Given the description of an element on the screen output the (x, y) to click on. 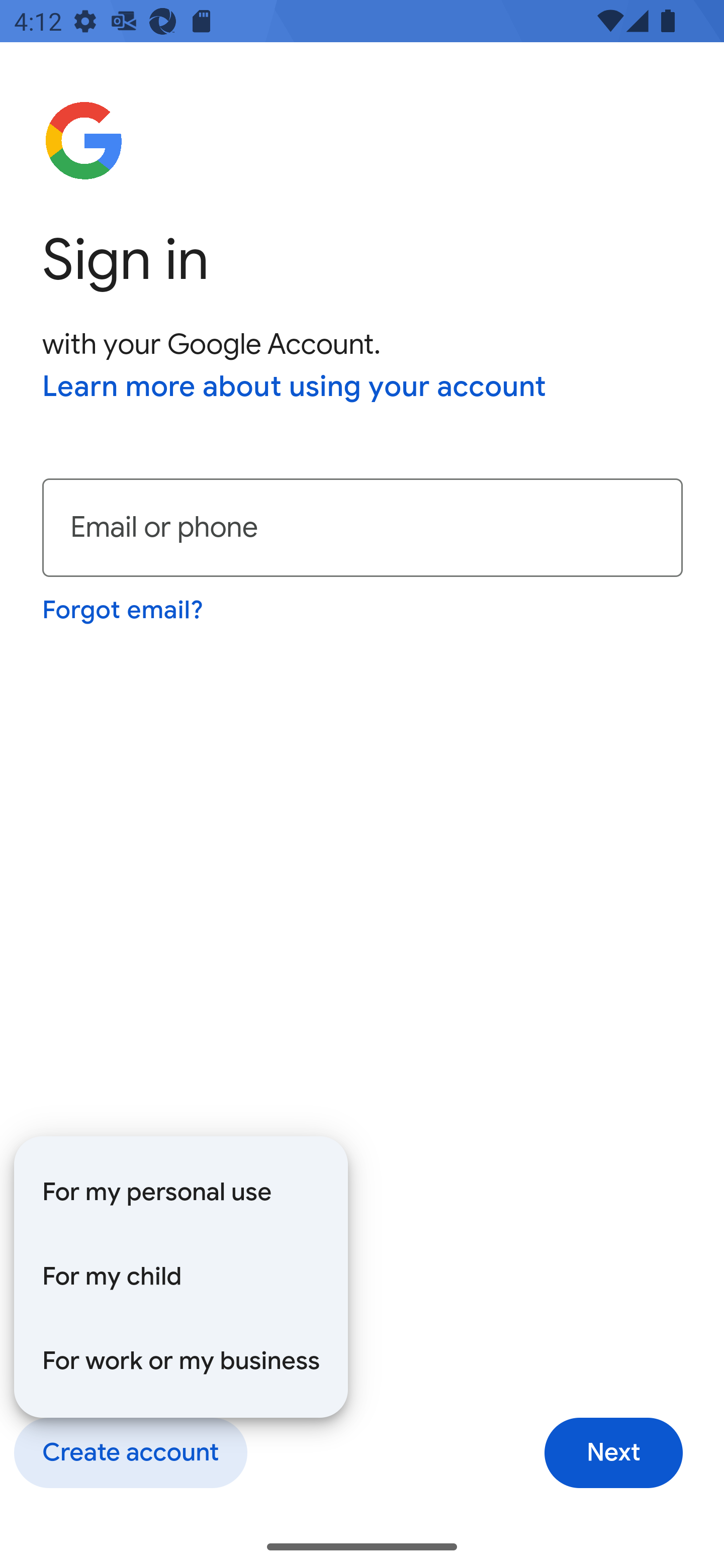
Learn more about using your account (294, 388)
Forgot email? (123, 609)
Next (613, 1453)
Create account (129, 1453)
